Given the description of an element on the screen output the (x, y) to click on. 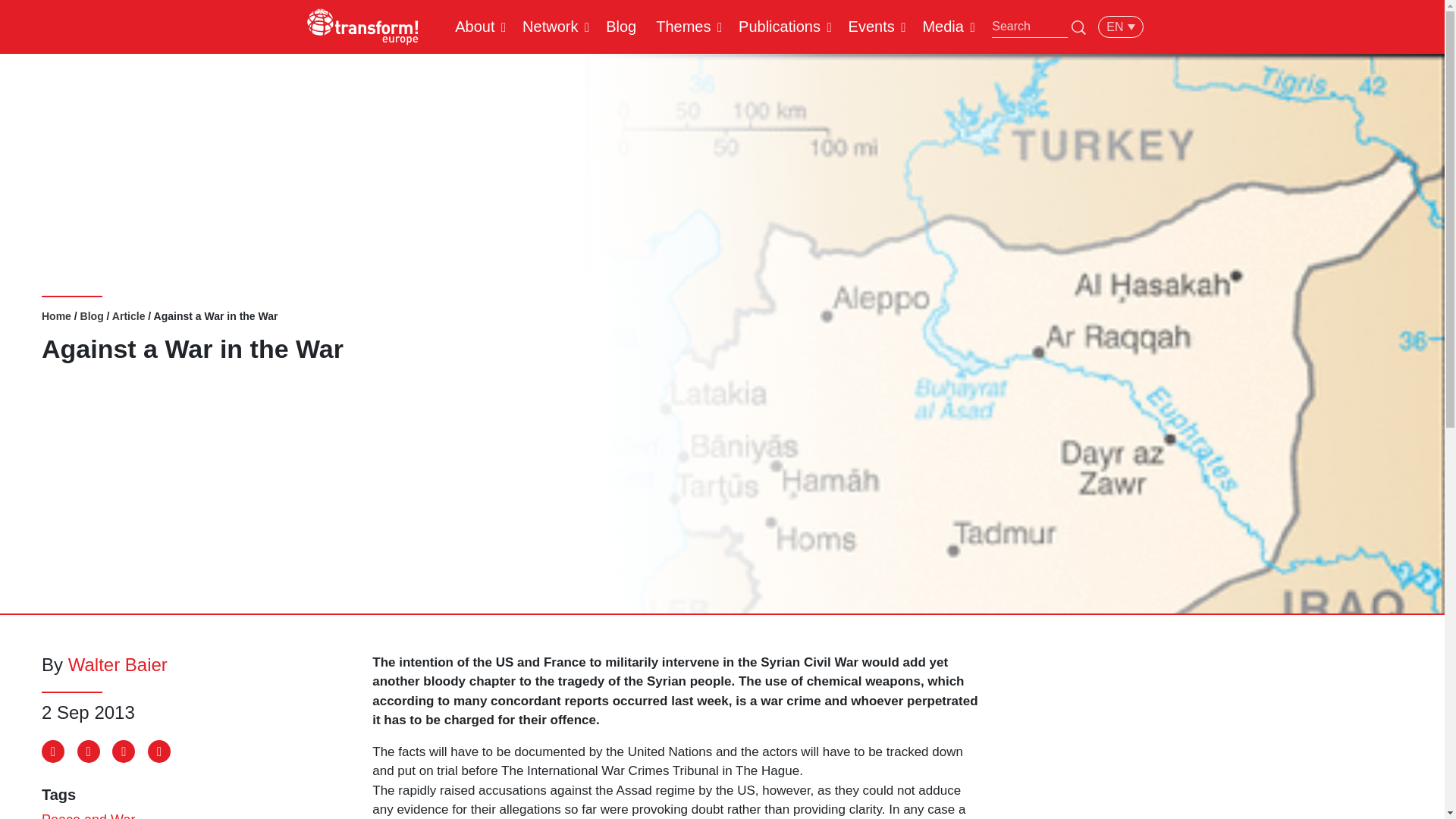
Share on Twitter (88, 751)
About (474, 26)
Blog (620, 26)
Themes (683, 26)
Network (550, 26)
Share on Telegram (123, 751)
Publications (779, 26)
EN (1119, 26)
Send by email (159, 751)
Share on Facebook (53, 751)
